Given the description of an element on the screen output the (x, y) to click on. 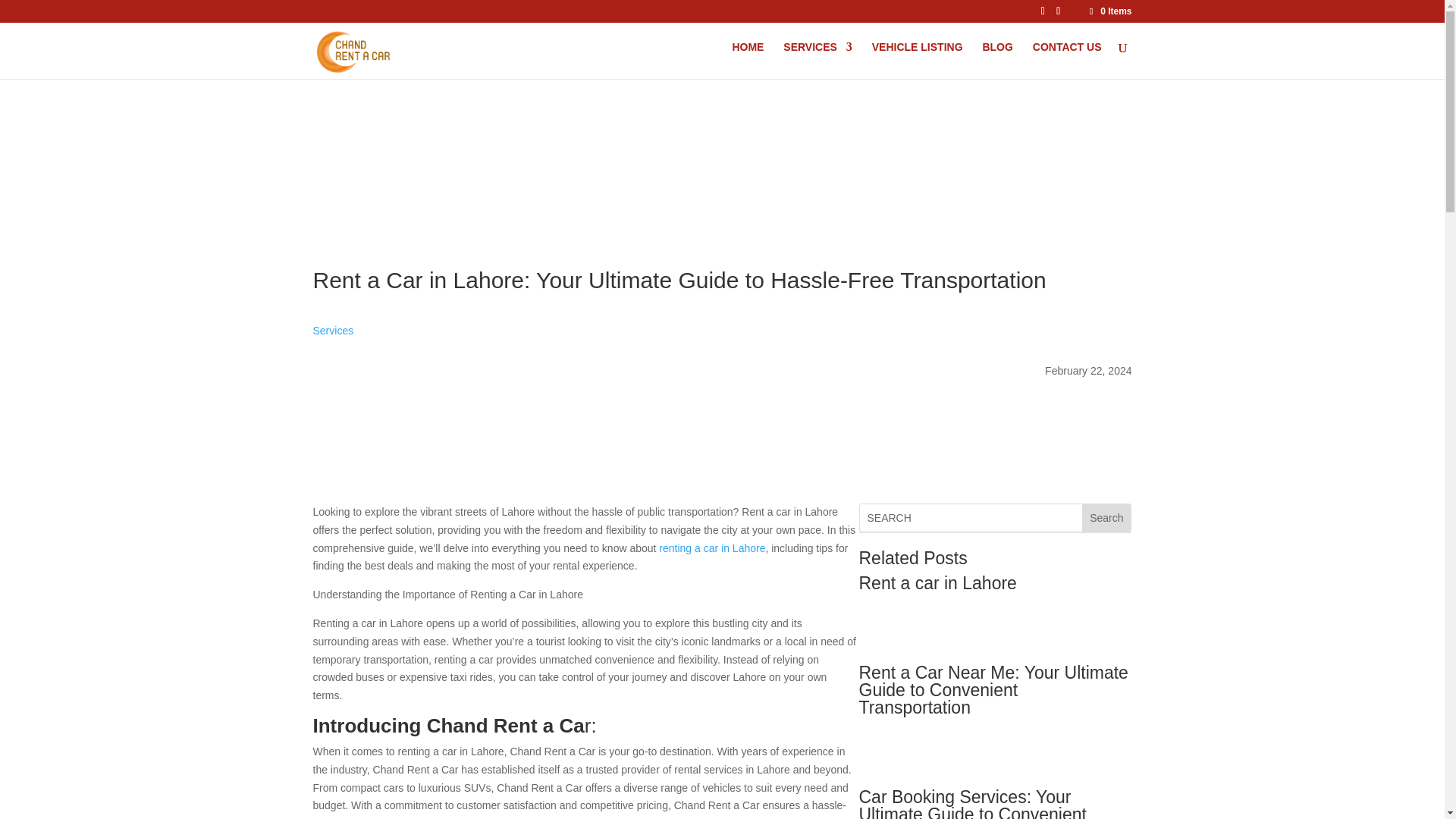
BLOG (996, 52)
Search (1106, 517)
Search (1106, 517)
Services (333, 330)
VEHICLE LISTING (917, 52)
HOME (747, 52)
CONTACT US (1067, 52)
Search (1106, 517)
0 Items (1108, 10)
SERVICES (817, 52)
Rent a car in Lahore (937, 582)
renting a car in Lahore (712, 548)
